Given the description of an element on the screen output the (x, y) to click on. 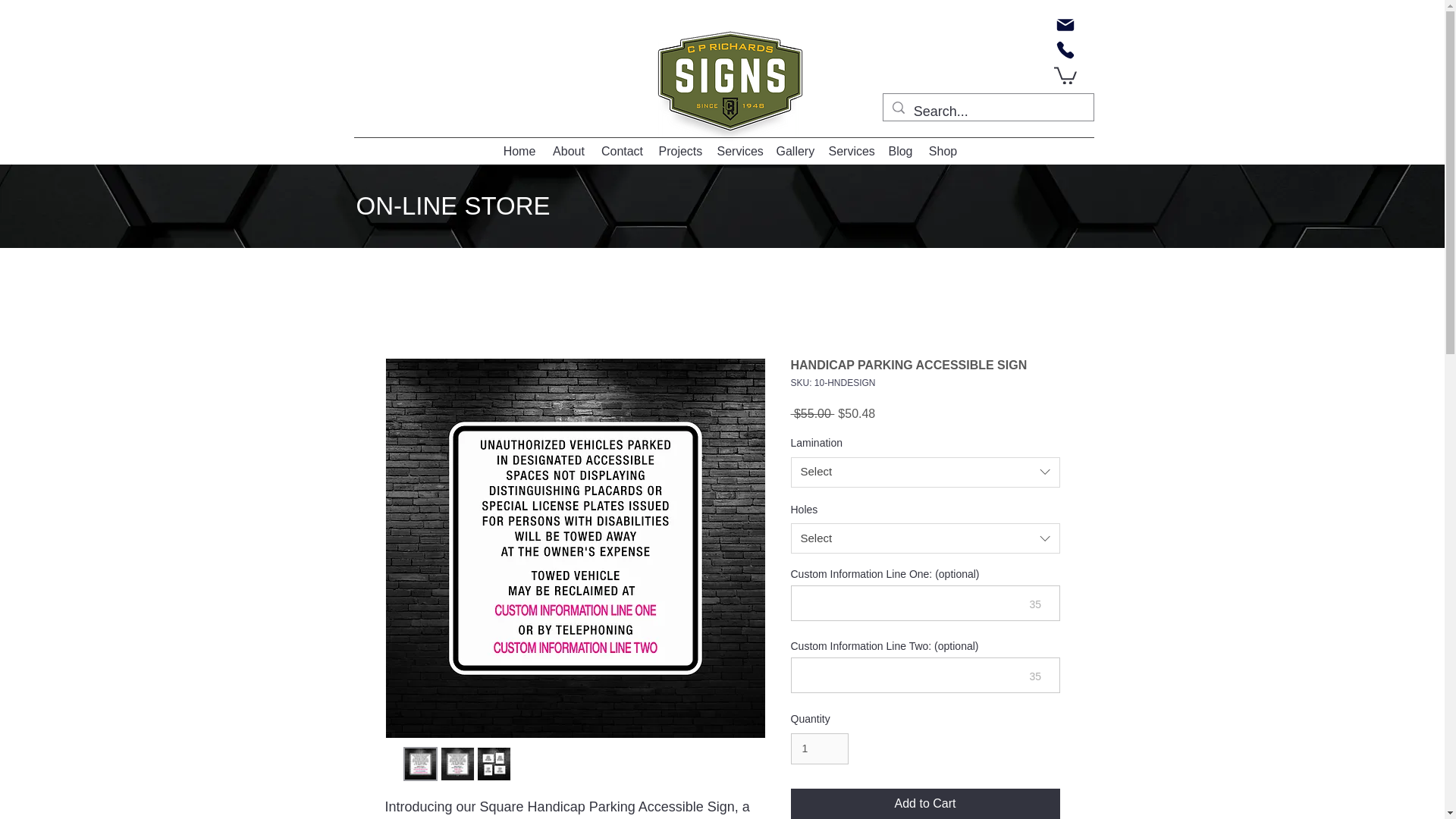
About (569, 151)
Services (739, 151)
Add to Cart (924, 803)
Projects (679, 151)
Select (924, 538)
Shop (941, 151)
Home (519, 151)
Services (850, 151)
Contact (621, 151)
Select (924, 472)
Gallery (794, 151)
1 (818, 748)
Blog (899, 151)
